Given the description of an element on the screen output the (x, y) to click on. 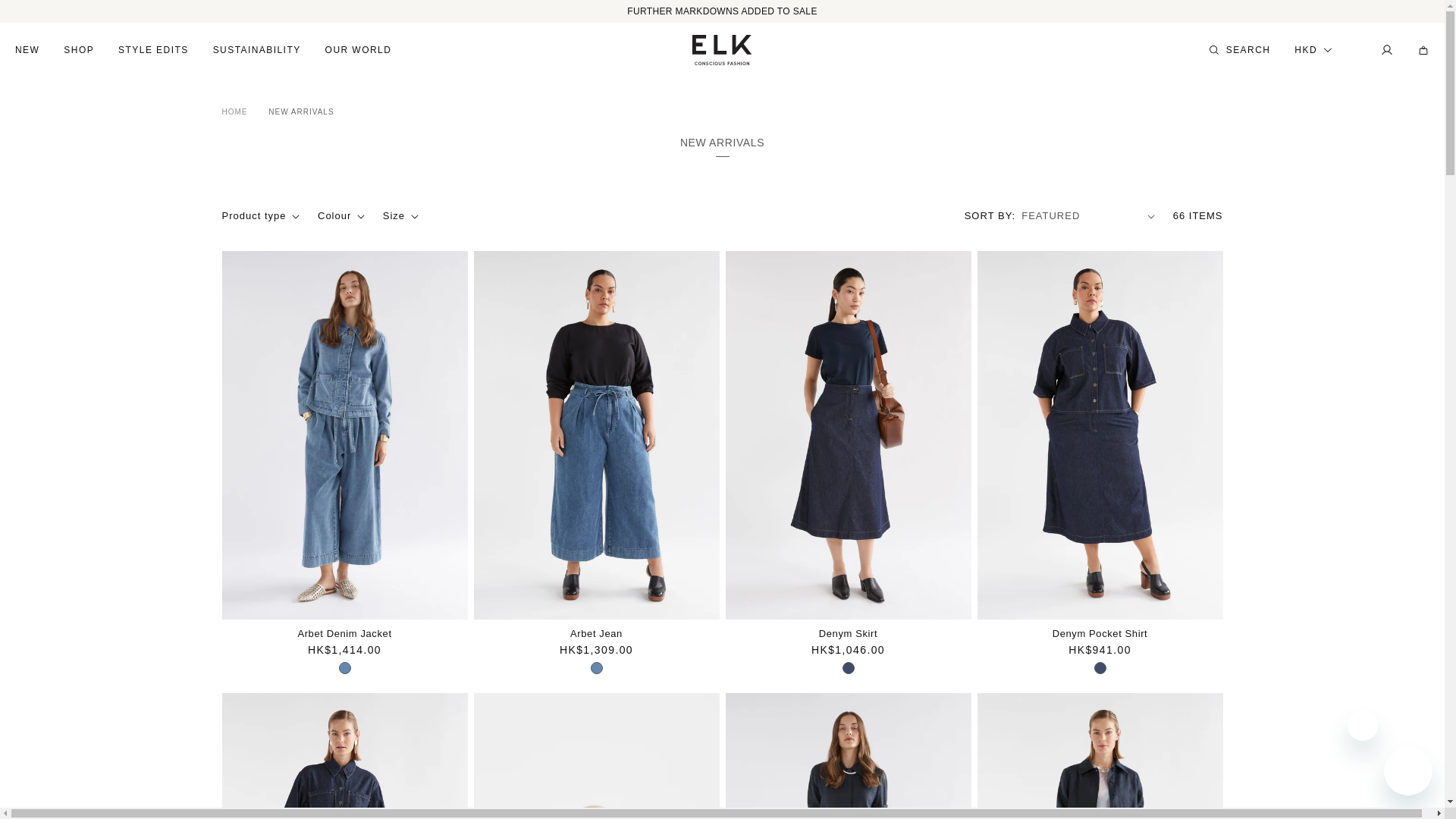
FURTHER MARKDOWNS ADDED TO SALE (721, 10)
NEW (26, 50)
SHOP (79, 50)
Skip to content (45, 17)
